Given the description of an element on the screen output the (x, y) to click on. 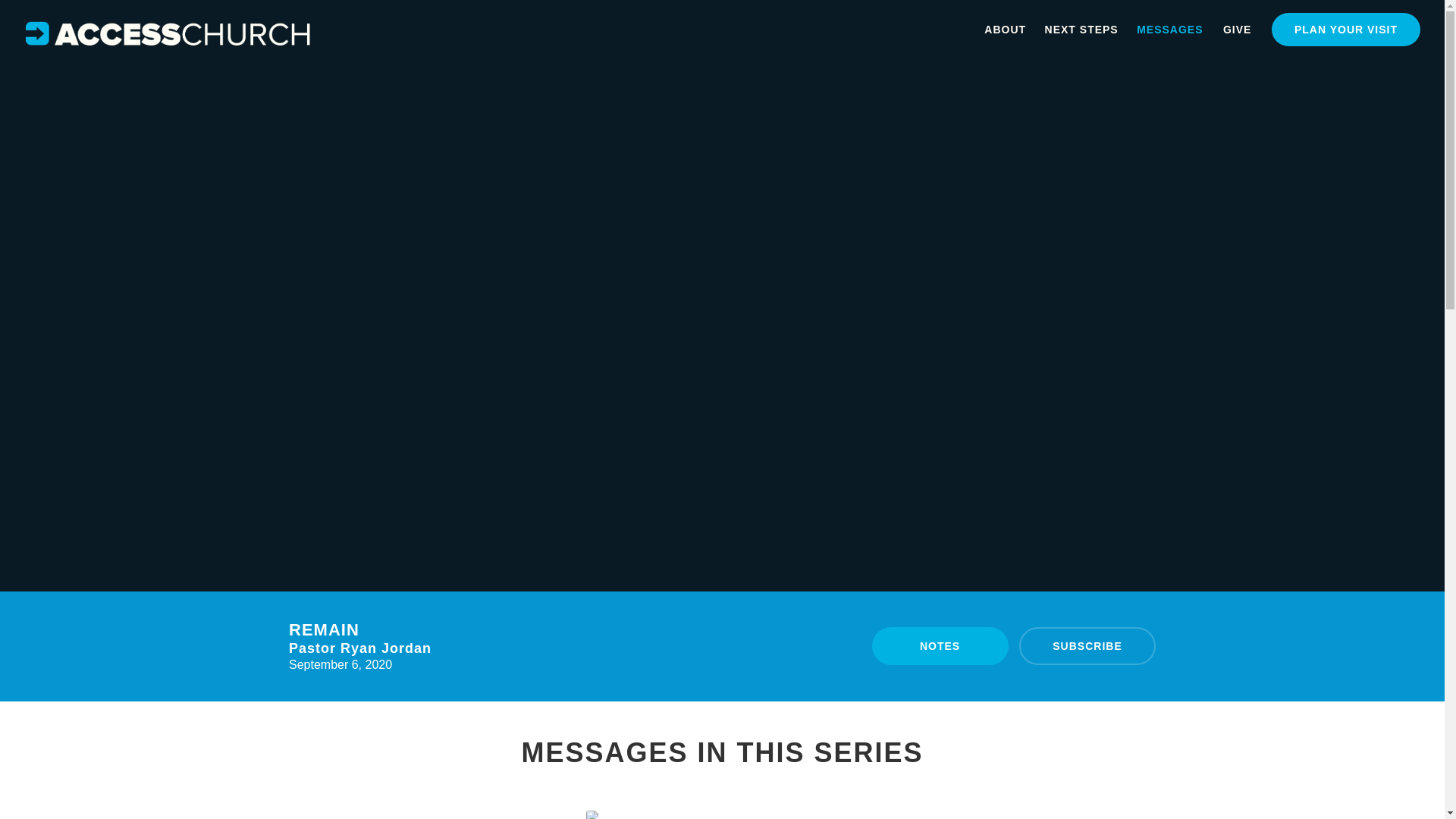
NOTES (722, 815)
MESSAGES (940, 646)
Pastor Ryan Jordan (1169, 29)
PLAN YOUR VISIT (359, 648)
NEXT STEPS (1346, 29)
SUBSCRIBE (1089, 33)
ABOUT (1087, 646)
